Given the description of an element on the screen output the (x, y) to click on. 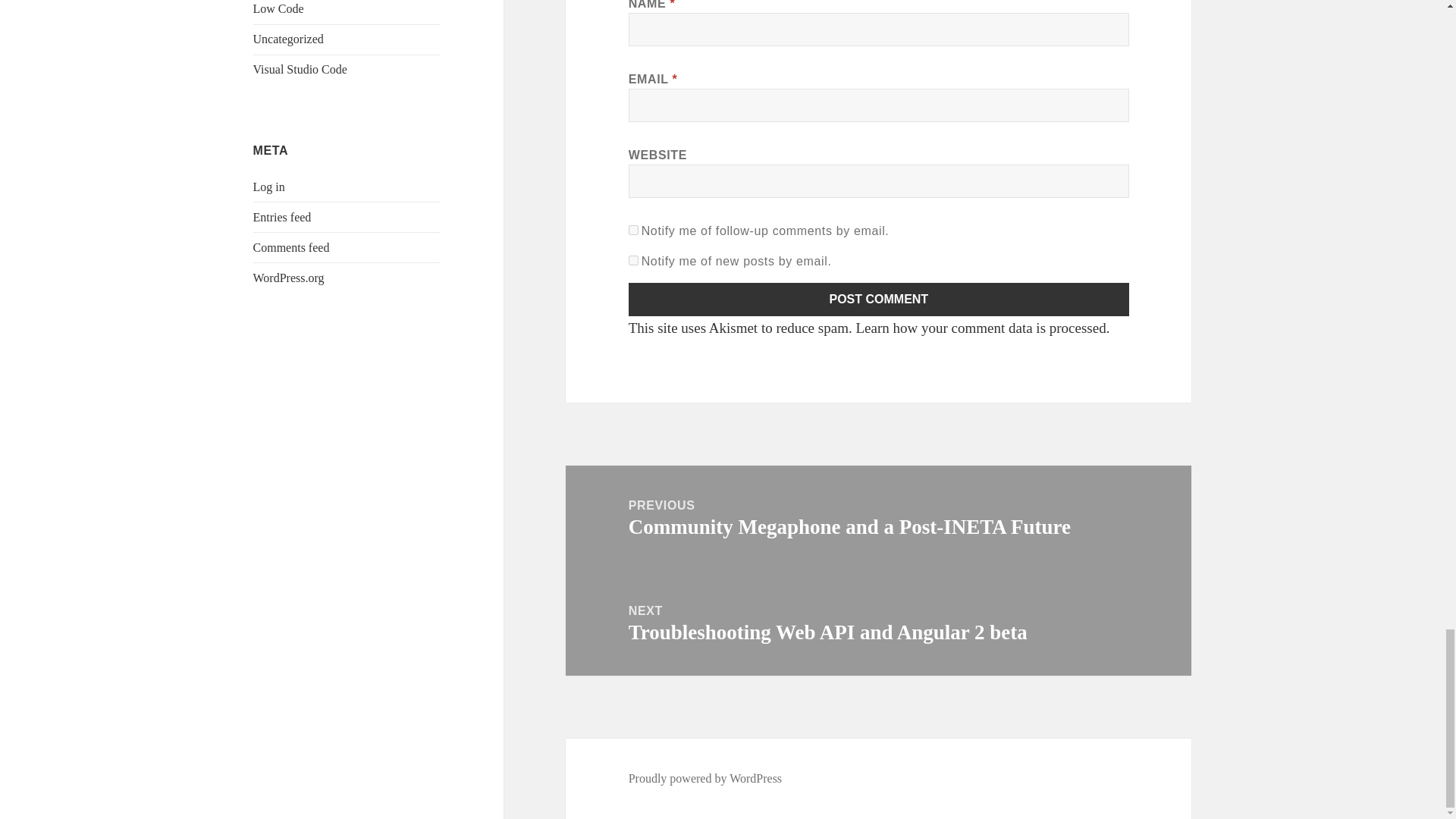
subscribe (633, 230)
subscribe (633, 260)
Post Comment (878, 299)
